Given the description of an element on the screen output the (x, y) to click on. 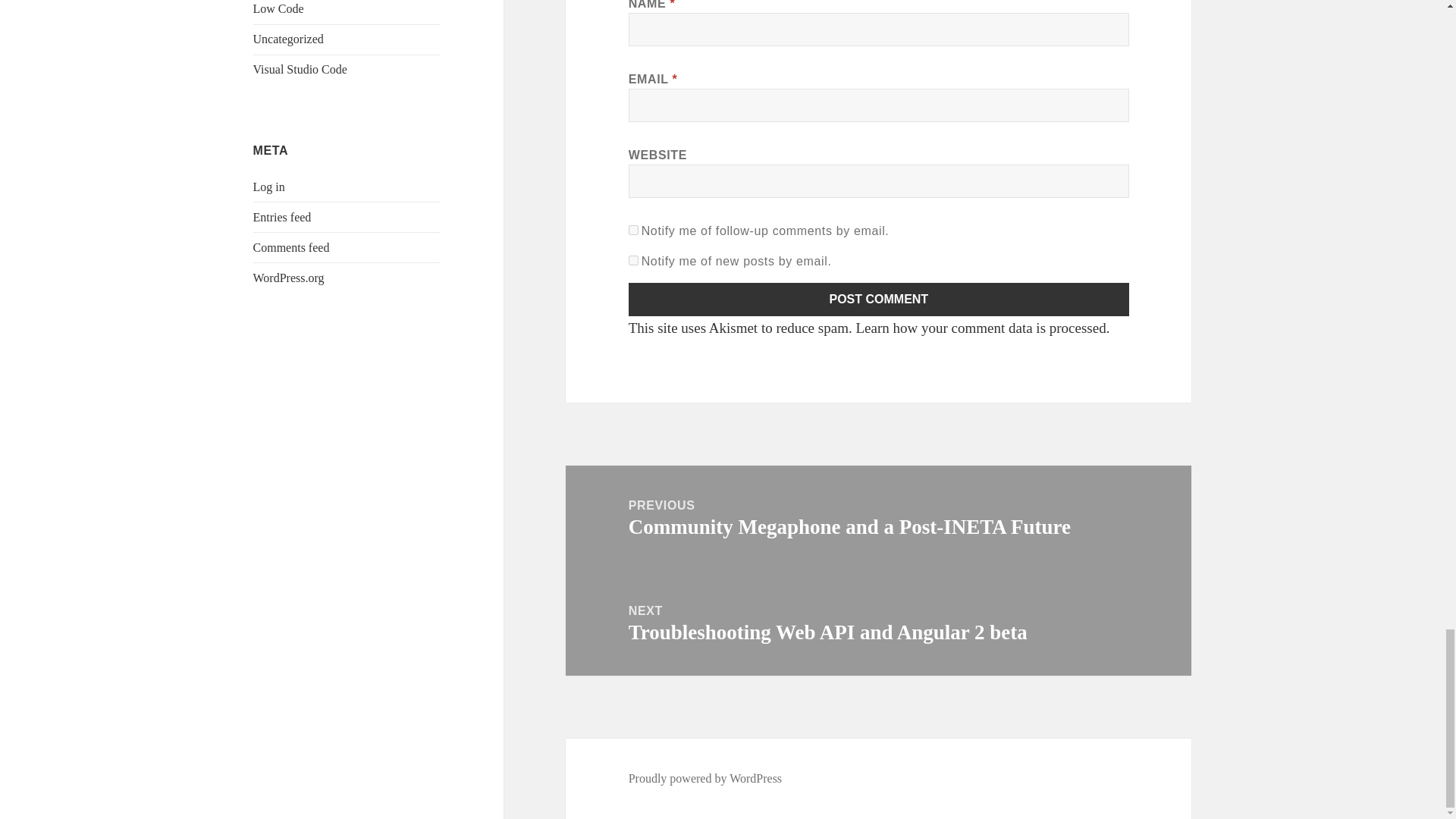
subscribe (633, 230)
subscribe (633, 260)
Post Comment (878, 299)
